Given the description of an element on the screen output the (x, y) to click on. 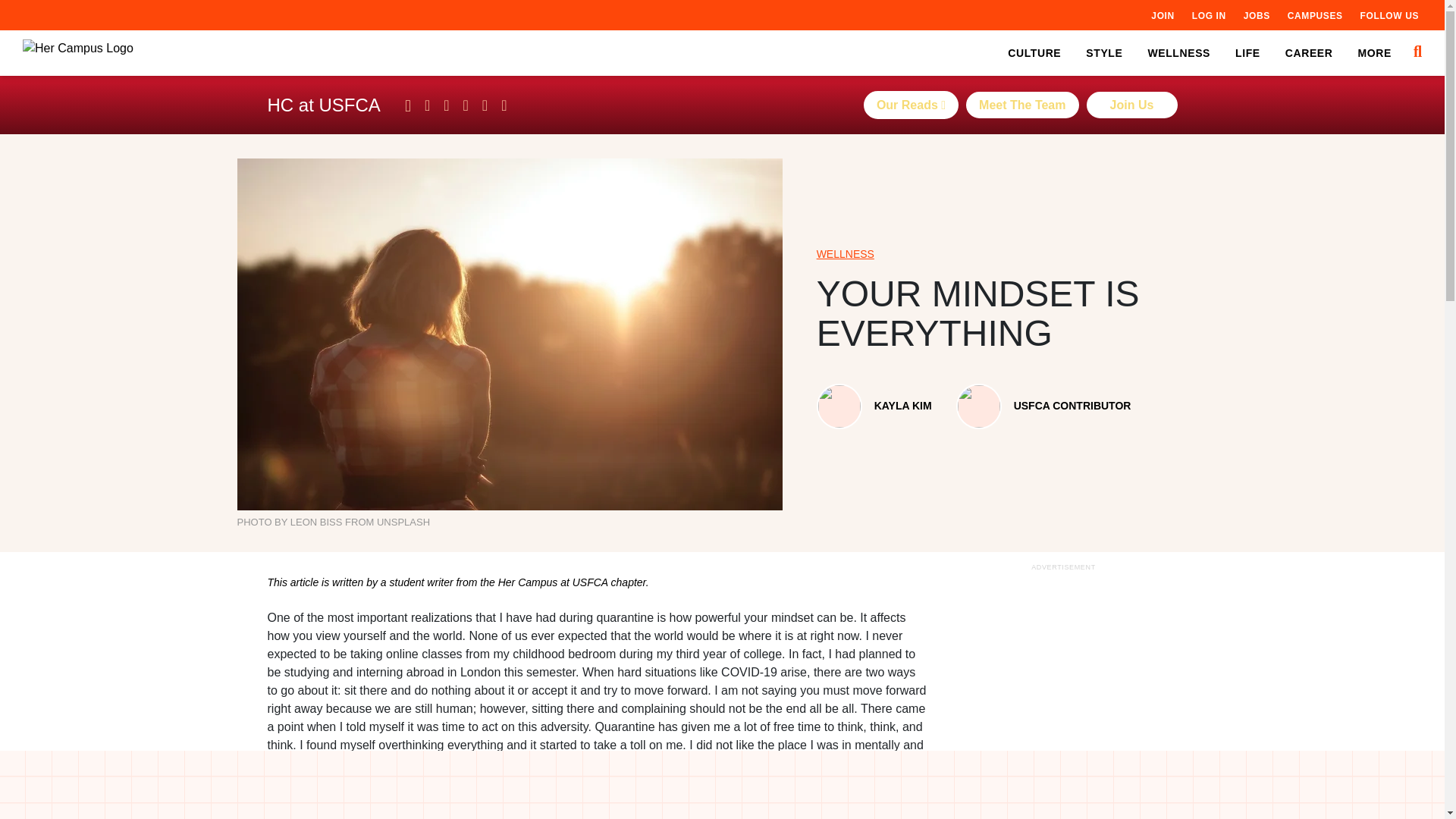
JOIN (1162, 15)
CAMPUSES (1314, 15)
LOG IN (1208, 15)
JOBS (1256, 15)
